Given the description of an element on the screen output the (x, y) to click on. 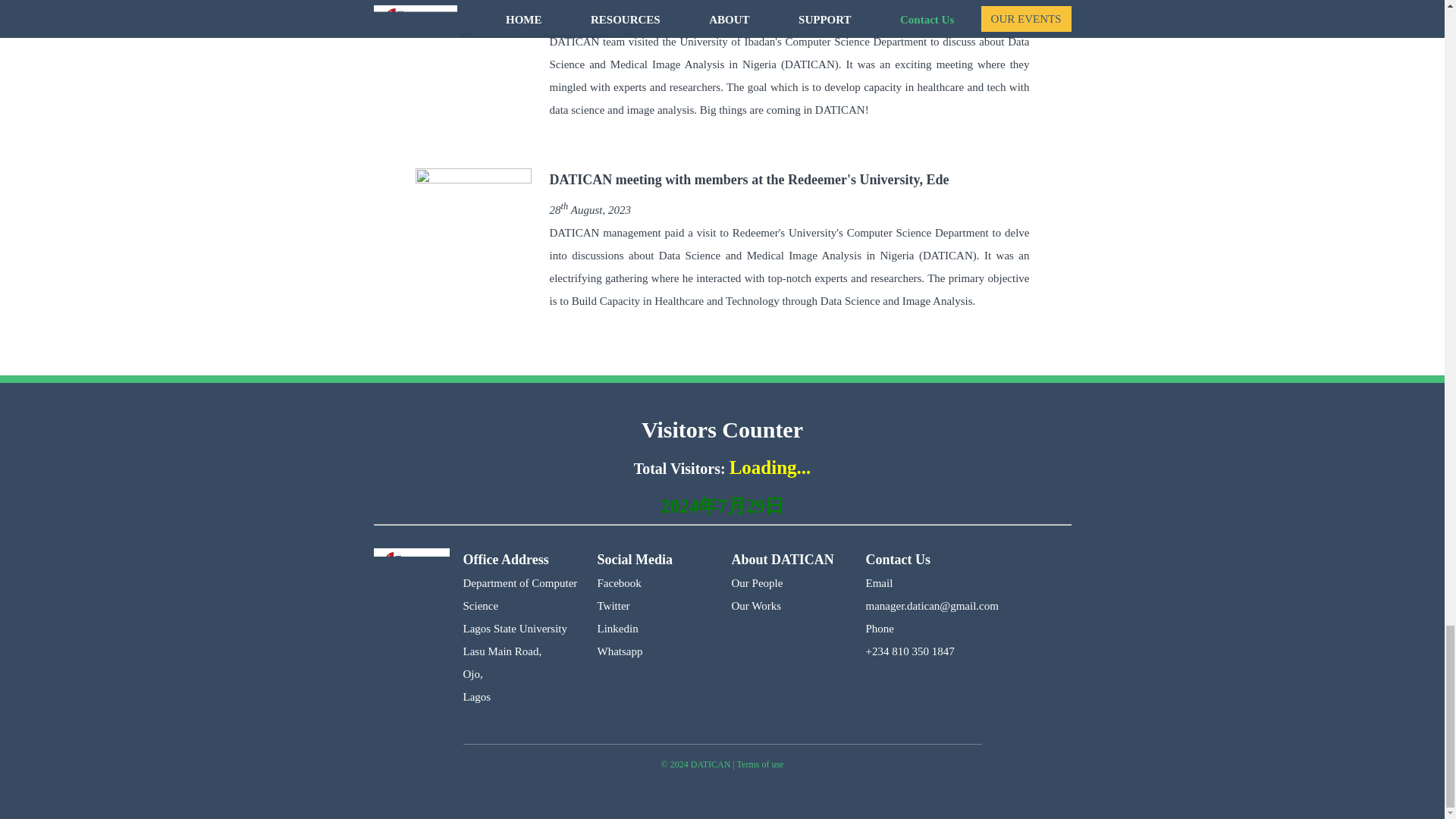
Back Home (410, 581)
